Given the description of an element on the screen output the (x, y) to click on. 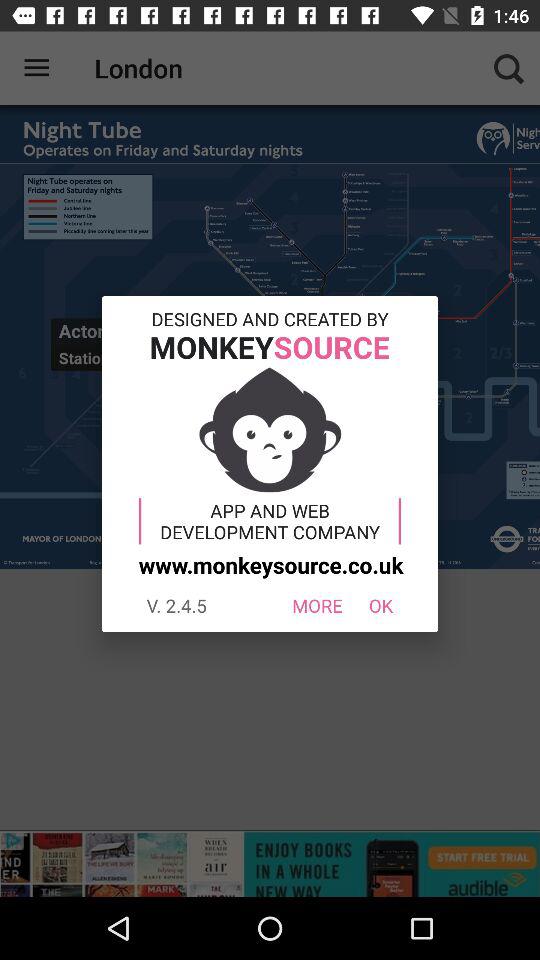
choose item next to the more icon (380, 605)
